Given the description of an element on the screen output the (x, y) to click on. 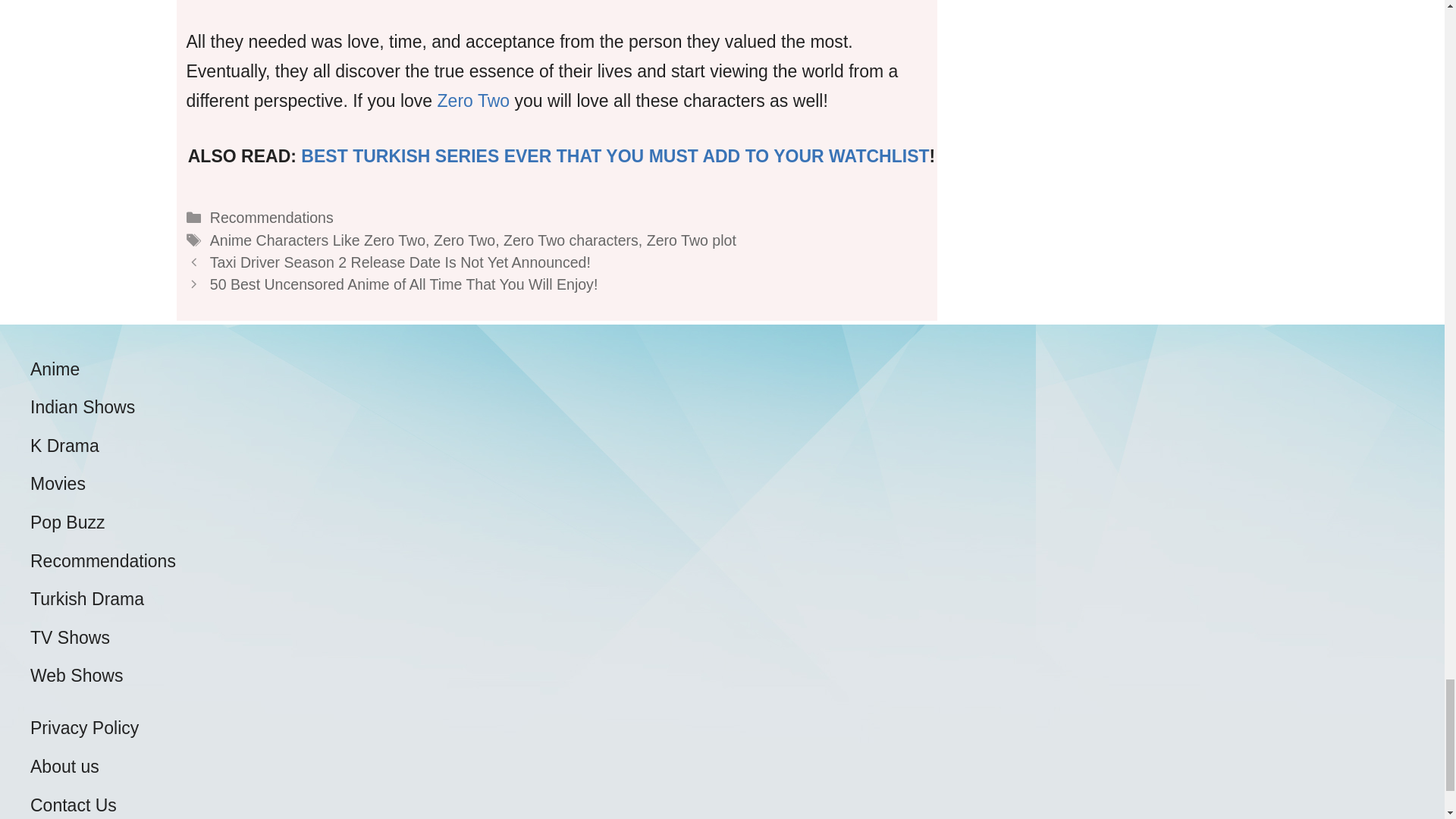
BEST TURKISH SERIES EVER THAT YOU MUST ADD TO YOUR WATCHLIST (614, 156)
Anime Characters Like Zero Two (317, 239)
50 Best Uncensored Anime of All Time That You Will Enjoy! (403, 284)
Taxi Driver Season 2 Release Date Is Not Yet Announced! (400, 262)
Zero Two plot (691, 239)
Zero Two characters (571, 239)
Recommendations (271, 217)
Zero Two (464, 239)
Zero Two (474, 100)
